Given the description of an element on the screen output the (x, y) to click on. 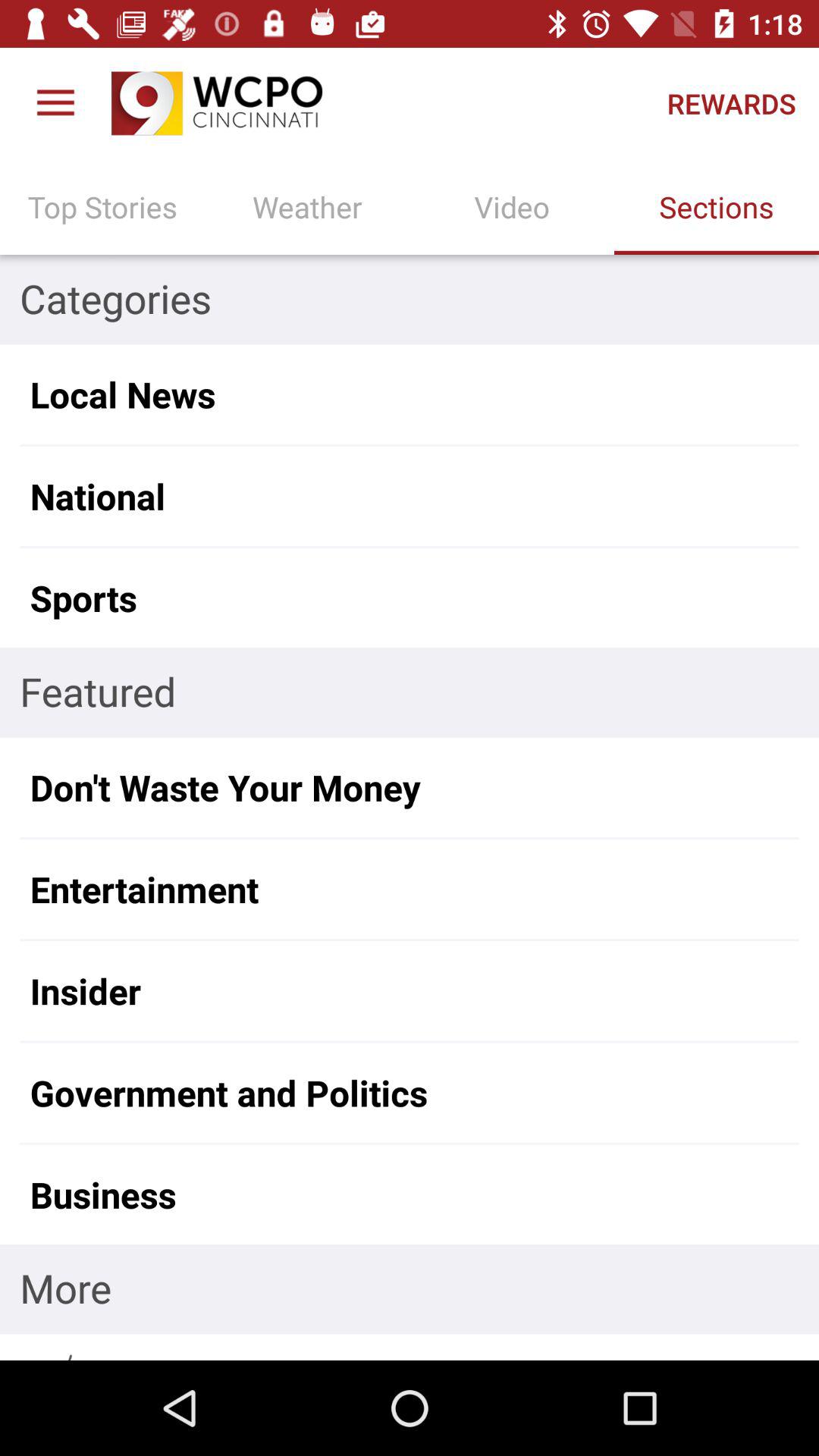
select the tab videos on the web page (511, 206)
